Given the description of an element on the screen output the (x, y) to click on. 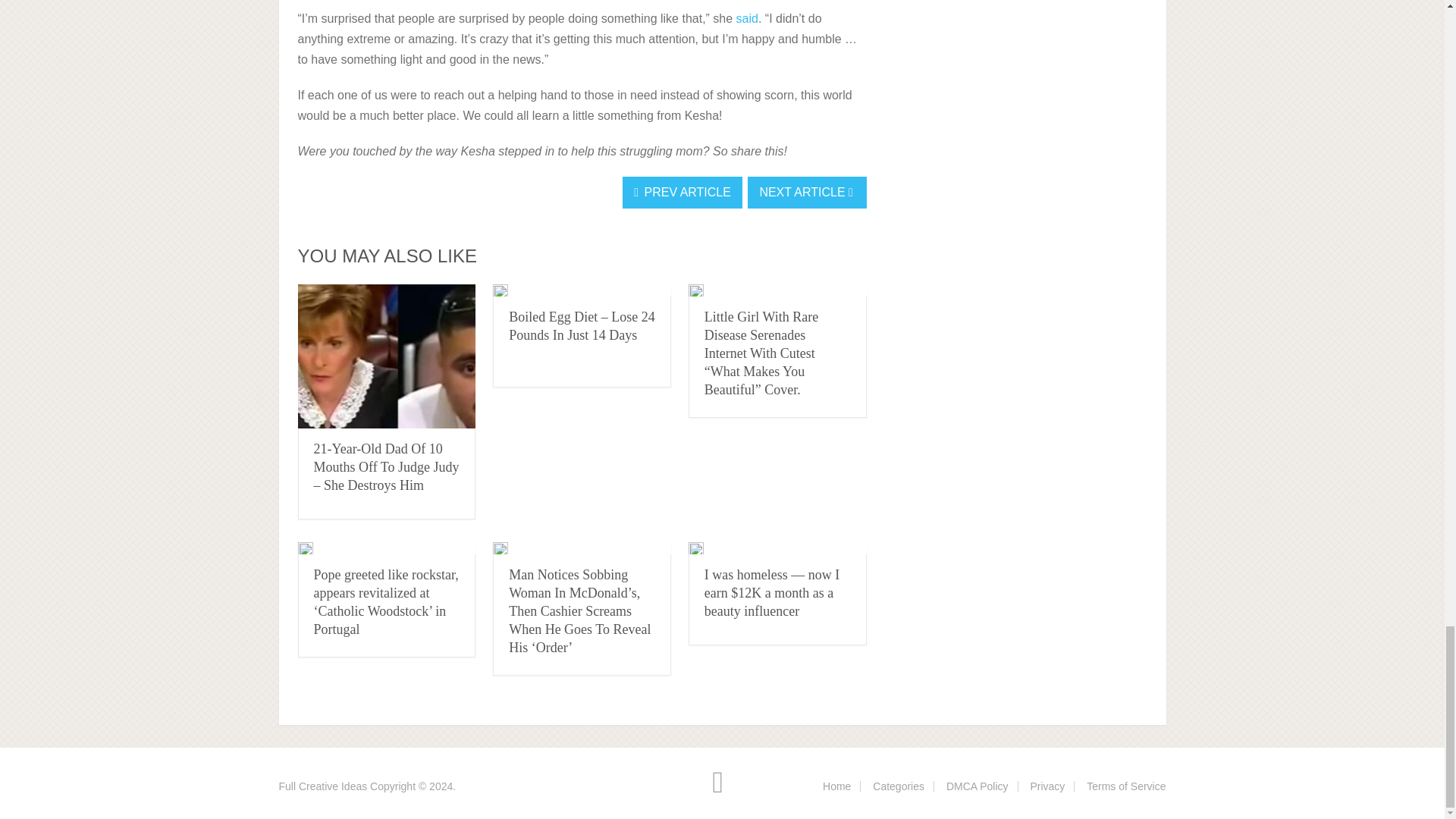
PREV ARTICLE (682, 192)
NEXT ARTICLE (807, 192)
Full Creative Ideas (323, 786)
Privacy (1046, 786)
said (747, 18)
Home (836, 786)
Categories (898, 786)
Terms of Service (1126, 786)
DMCA Policy (977, 786)
